Given the description of an element on the screen output the (x, y) to click on. 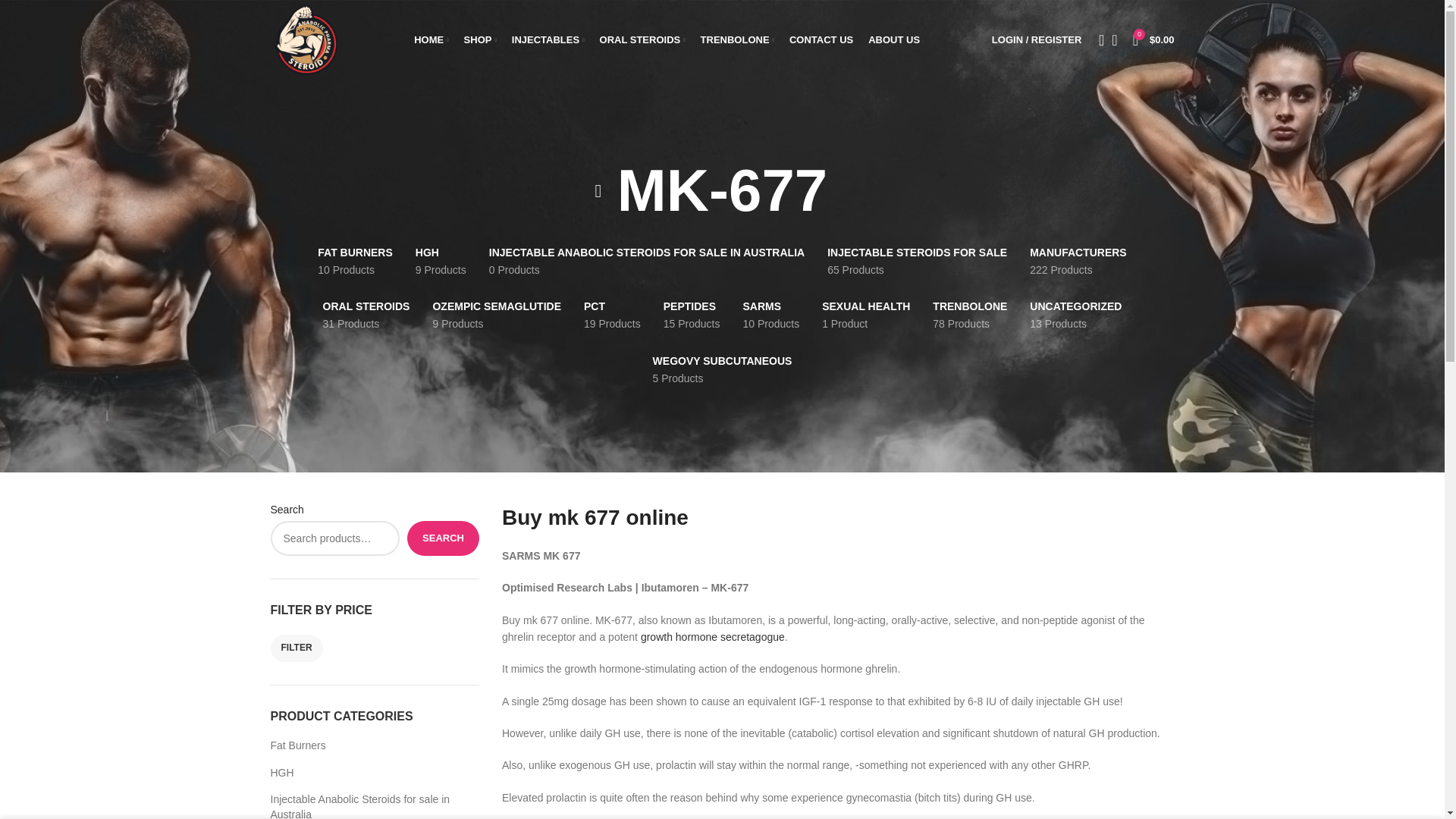
HOME (430, 39)
TRENBOLONE (737, 39)
Shopping cart (1153, 39)
INJECTABLES (548, 39)
ORAL STEROIDS (642, 39)
SHOP (480, 39)
My account (1036, 39)
